Given the description of an element on the screen output the (x, y) to click on. 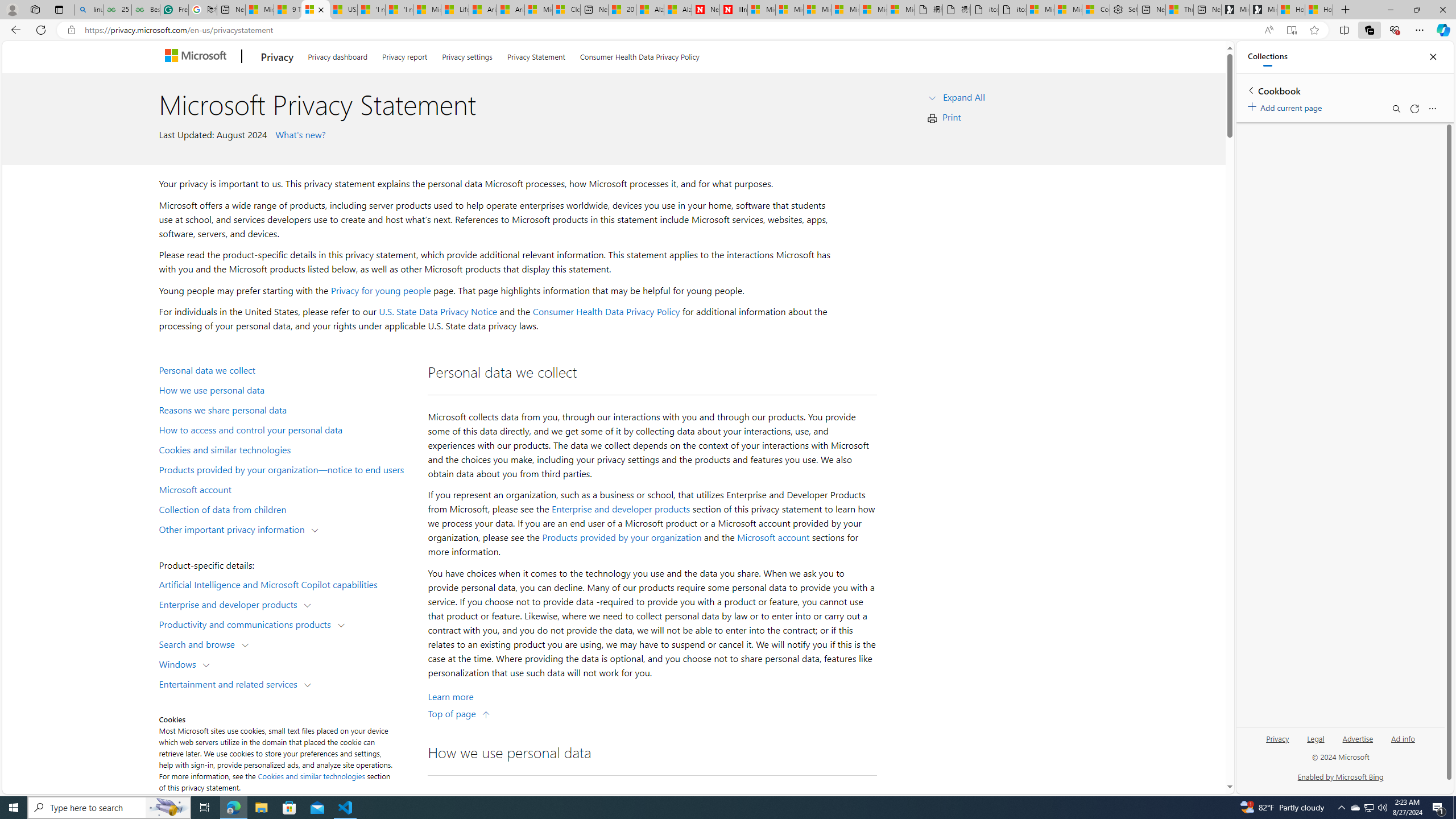
Entertainment and related services (230, 683)
Windows (180, 663)
 What's new? (299, 133)
Illness news & latest pictures from Newsweek.com (733, 9)
Search and browse (199, 643)
Privacy Statement (536, 54)
Other important privacy information (234, 528)
